Given the description of an element on the screen output the (x, y) to click on. 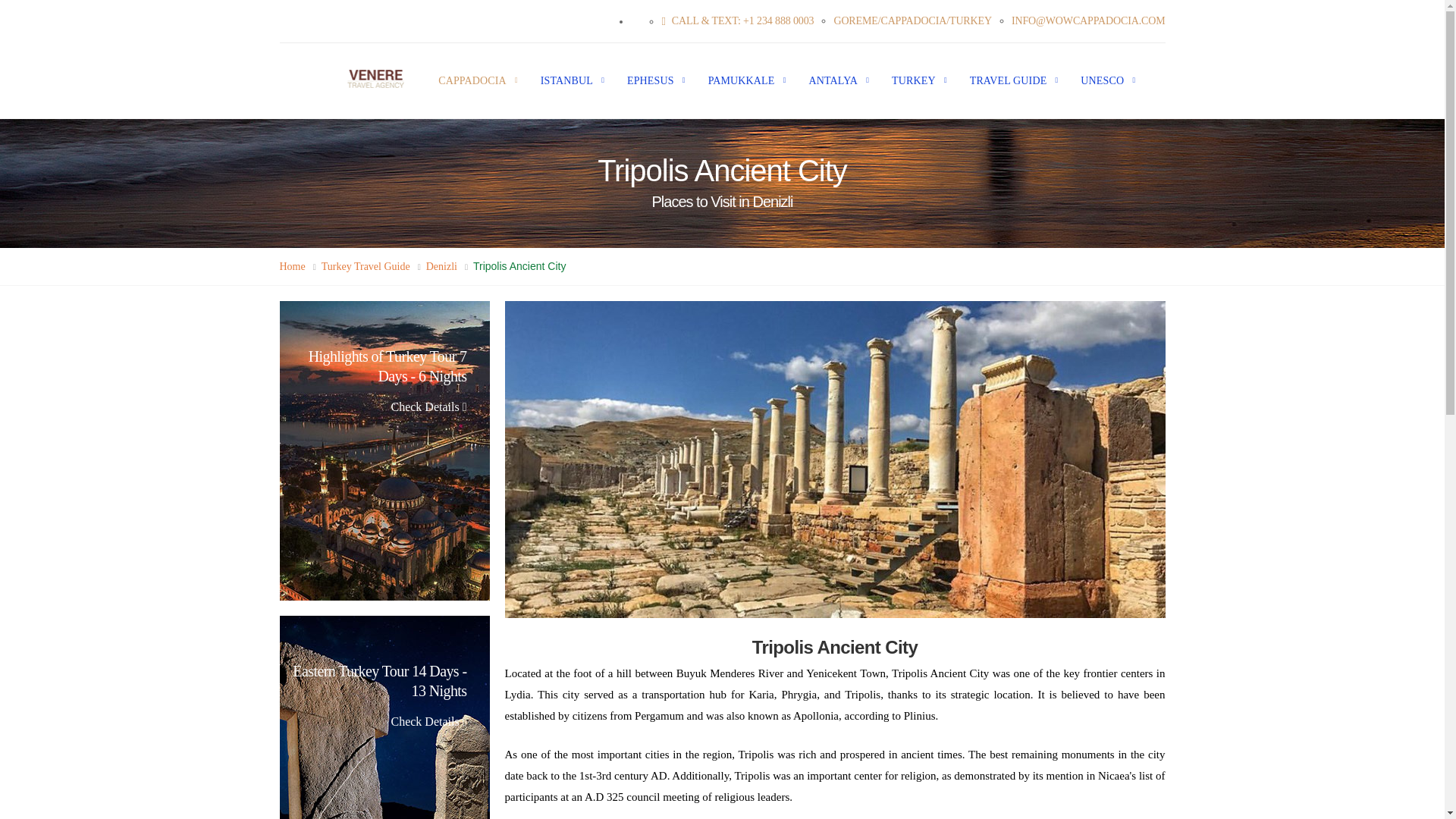
Eastern Turkey Tour (384, 717)
Welcome to Venere Travel Website (375, 78)
Highlights of Turkey Tour (384, 450)
CAPPADOCIA (466, 79)
